Given the description of an element on the screen output the (x, y) to click on. 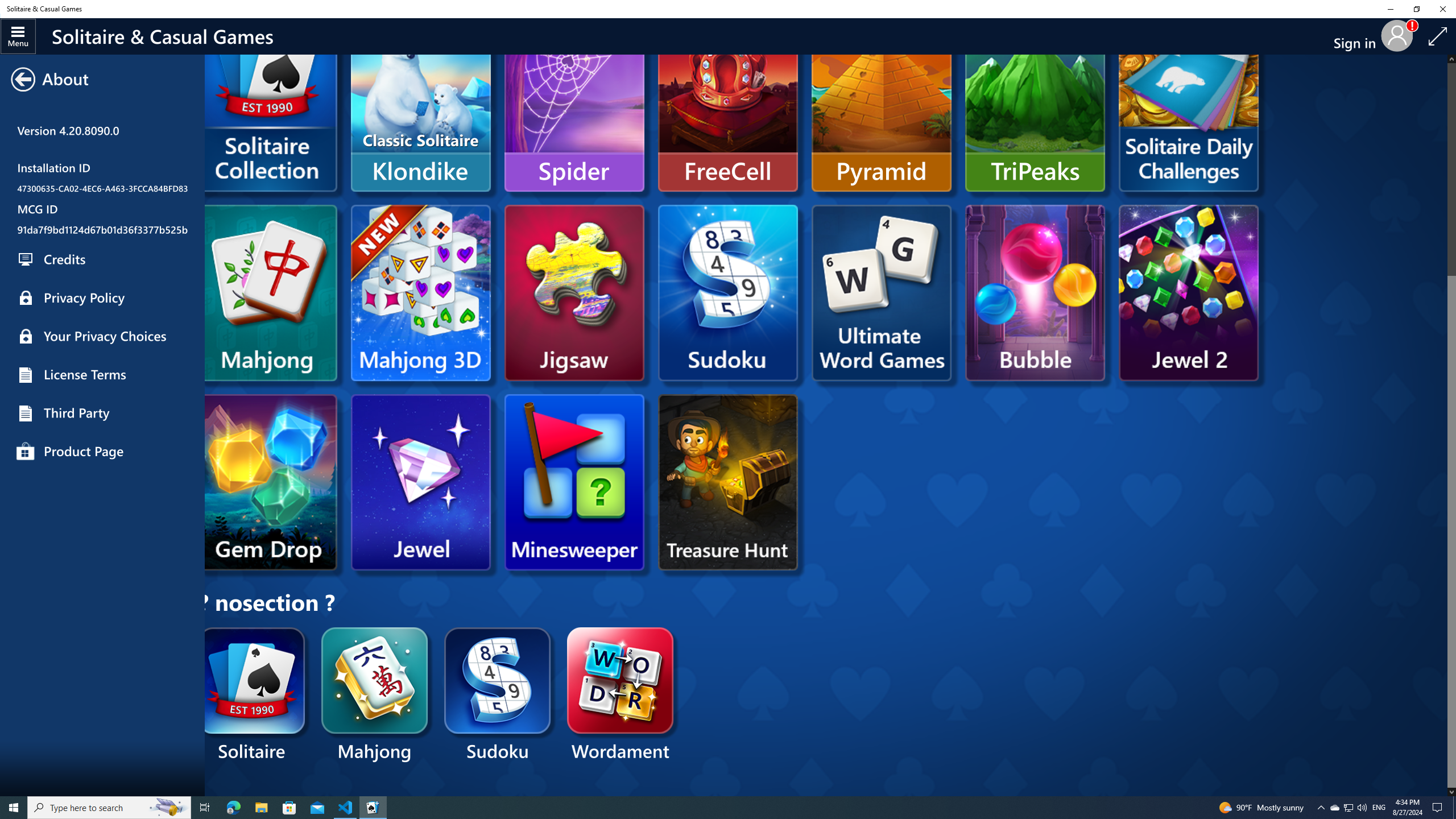
Solitaire Collection (102, 109)
Microsoft UWG (881, 292)
